Given the description of an element on the screen output the (x, y) to click on. 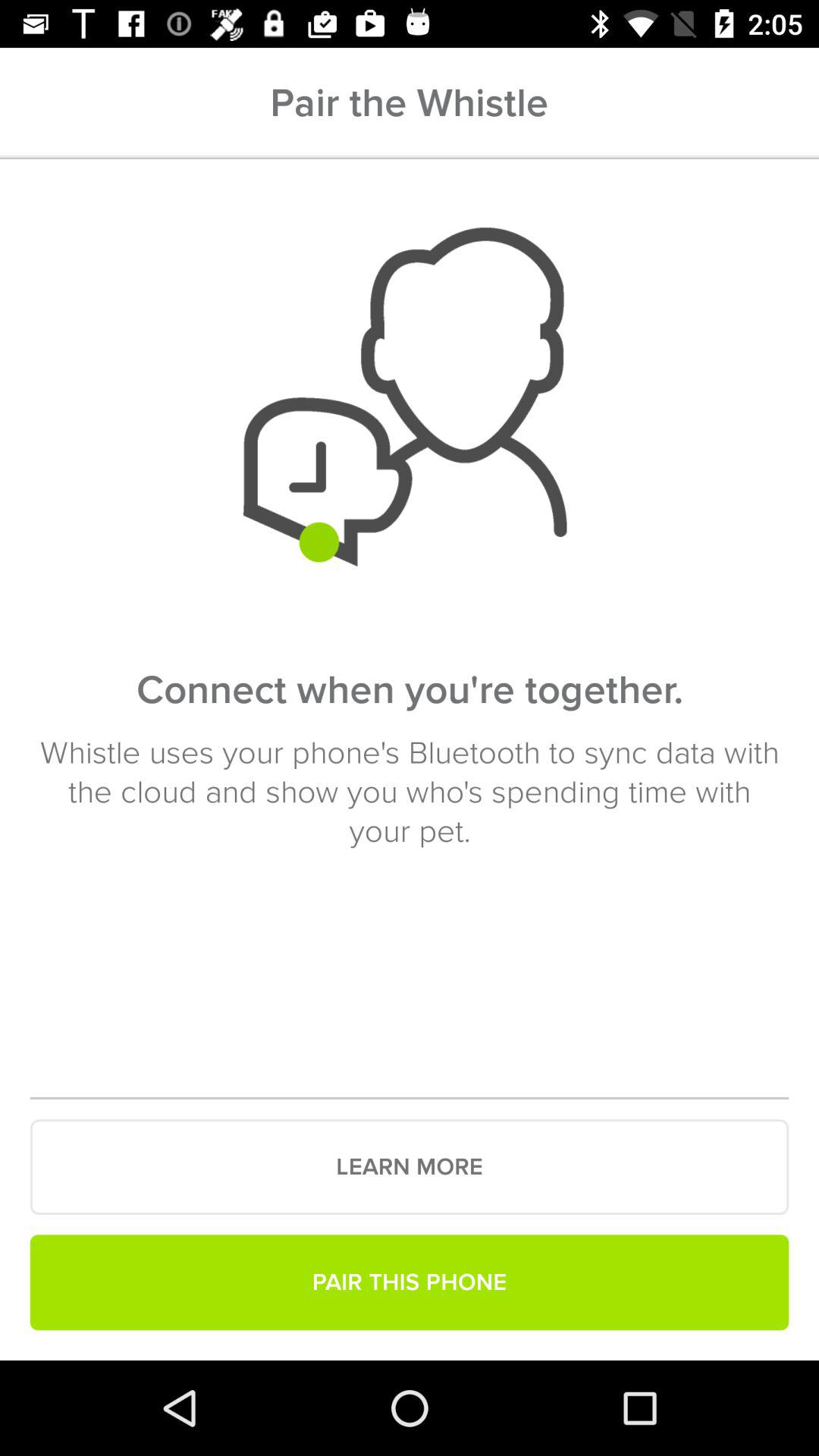
flip to learn more item (409, 1166)
